Given the description of an element on the screen output the (x, y) to click on. 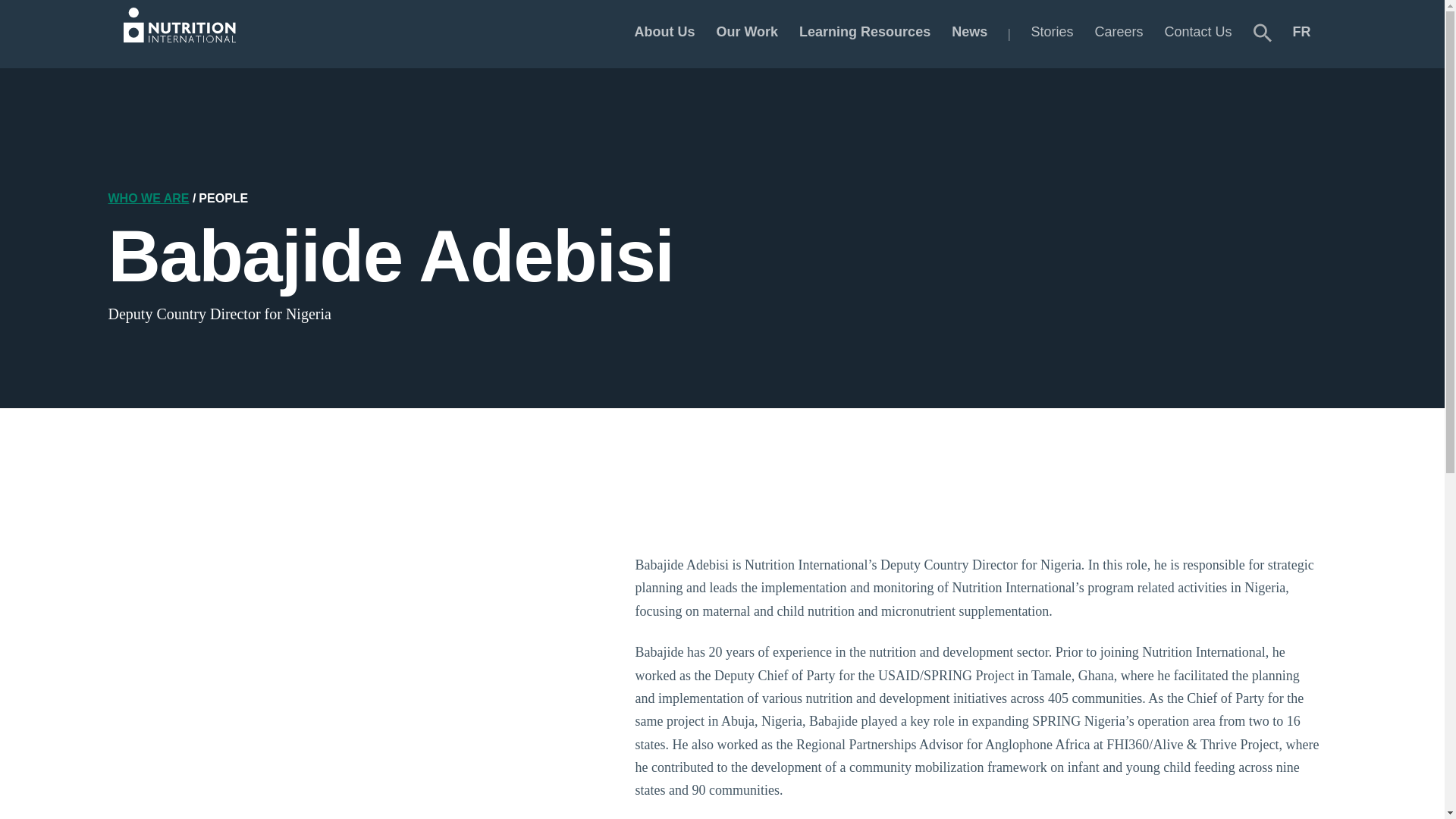
Our Work (746, 33)
Contact Us (1197, 33)
Learning Resources (864, 33)
WHO WE ARE (148, 197)
Nutrition International home page (183, 33)
